Given the description of an element on the screen output the (x, y) to click on. 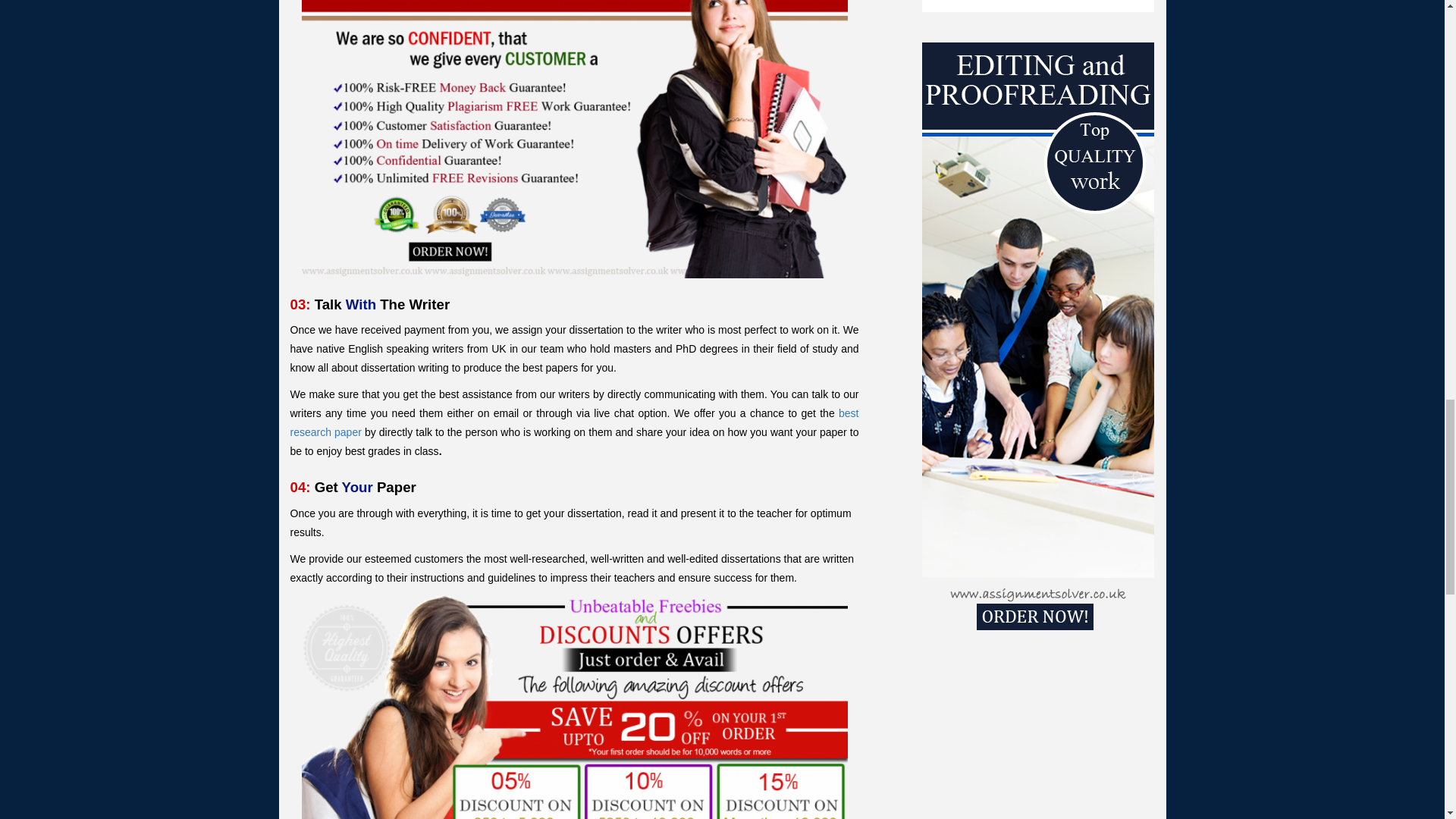
best research paper (574, 422)
